Given the description of an element on the screen output the (x, y) to click on. 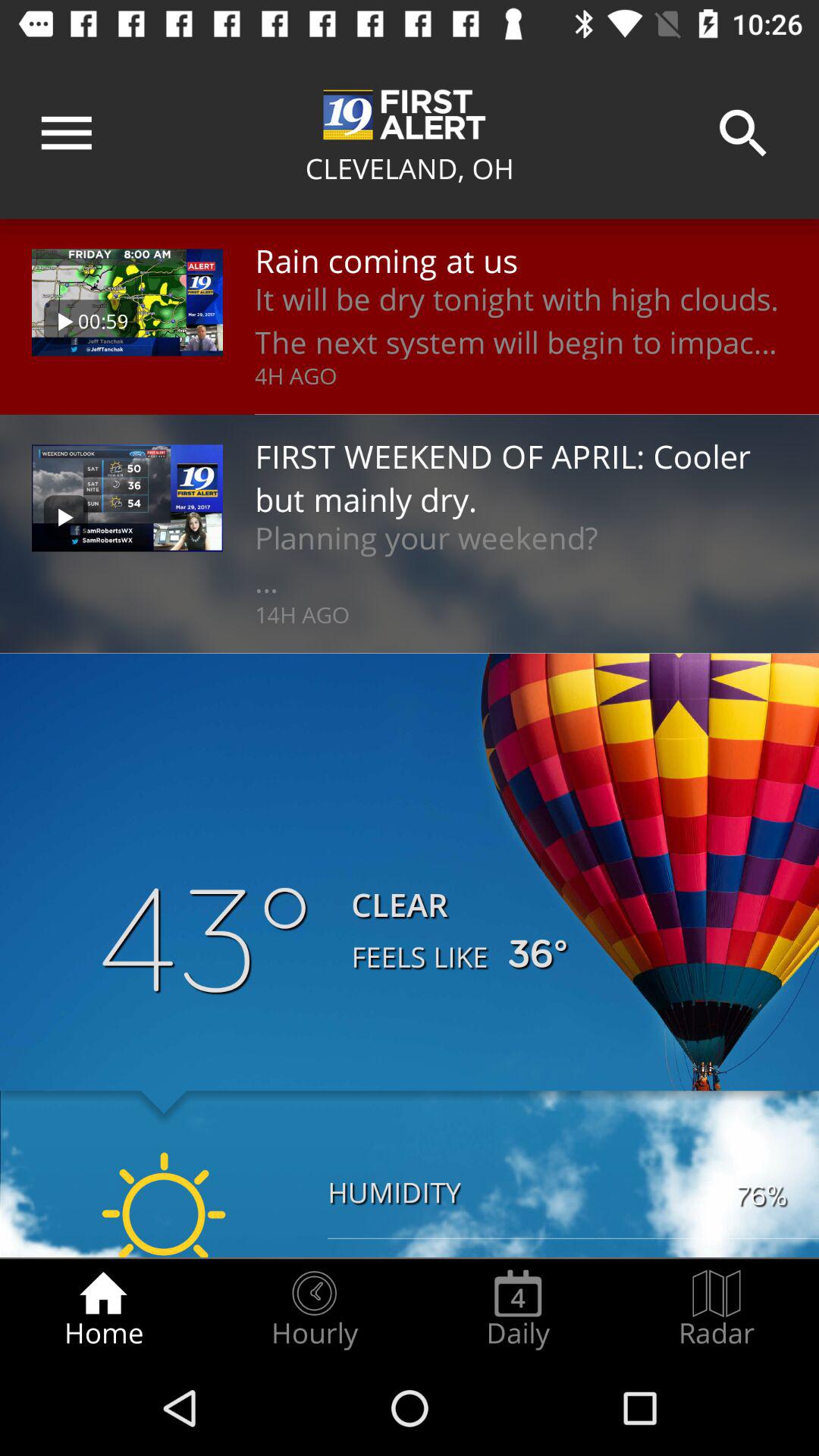
tap the radar radio button (716, 1309)
